Given the description of an element on the screen output the (x, y) to click on. 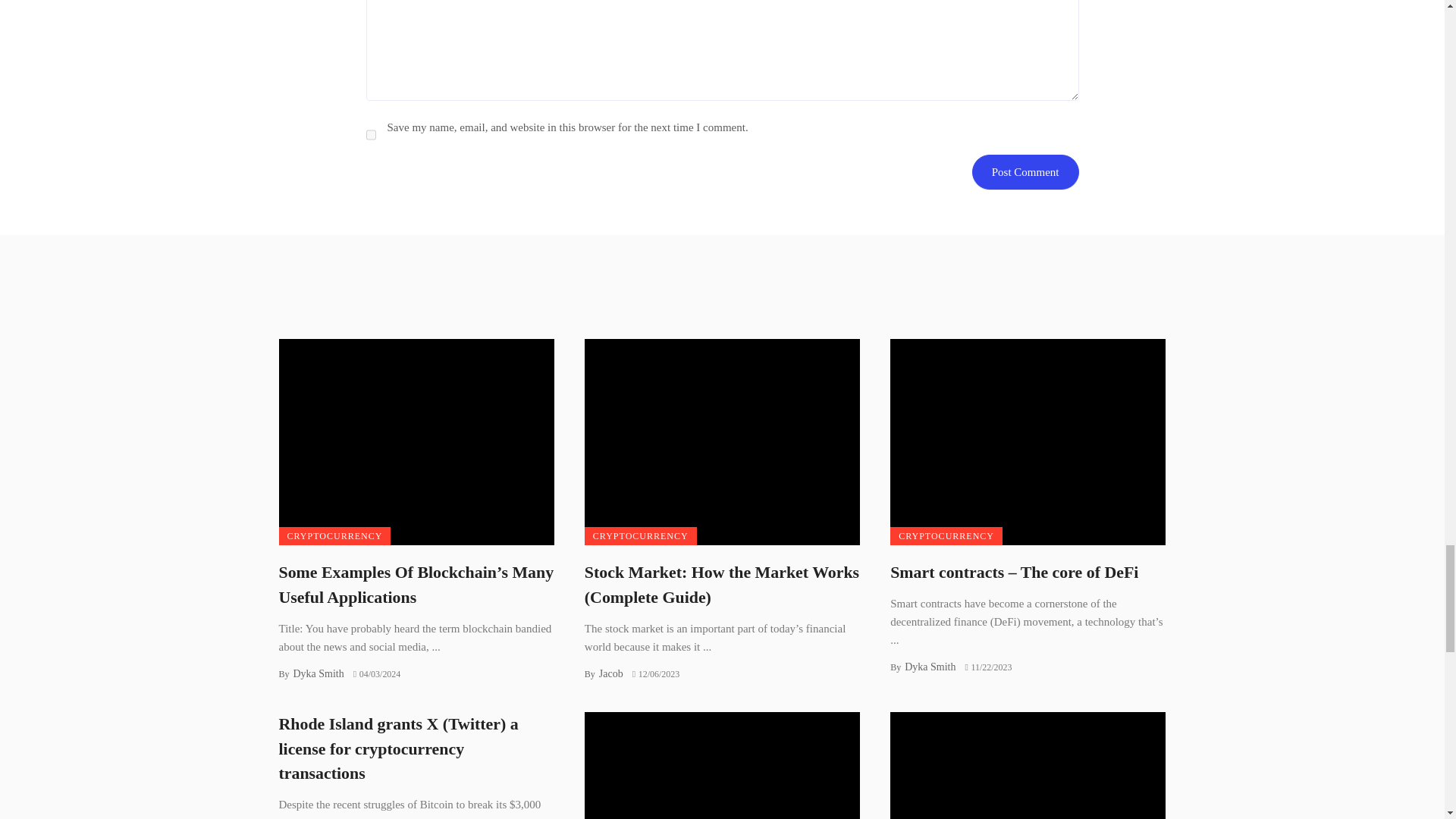
Jacob (610, 673)
CRYPTOCURRENCY (335, 536)
Post Comment (1025, 171)
Dyka Smith (317, 673)
CRYPTOCURRENCY (641, 536)
Post Comment (1025, 171)
